Given the description of an element on the screen output the (x, y) to click on. 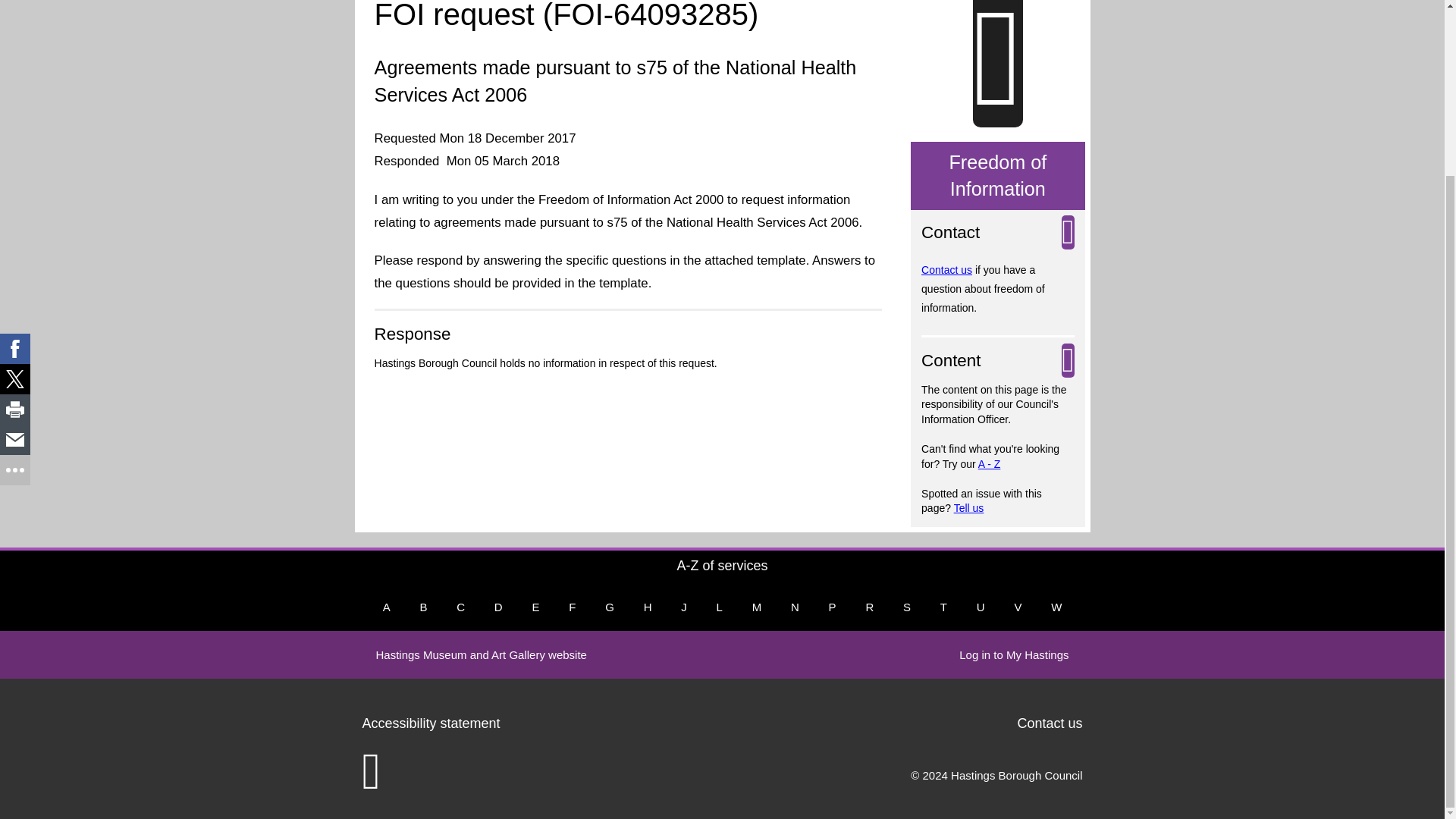
B (423, 607)
Services beginning with A (386, 607)
L (719, 607)
G (609, 607)
W (1055, 607)
Services beginning with F (571, 607)
Services beginning with D (498, 607)
Services beginning with B (423, 607)
Services beginning with E (535, 607)
C (460, 607)
Contact us (946, 269)
T (943, 607)
J (683, 607)
Hastings Museum and Art Gallery website (480, 654)
Tell us (968, 507)
